Given the description of an element on the screen output the (x, y) to click on. 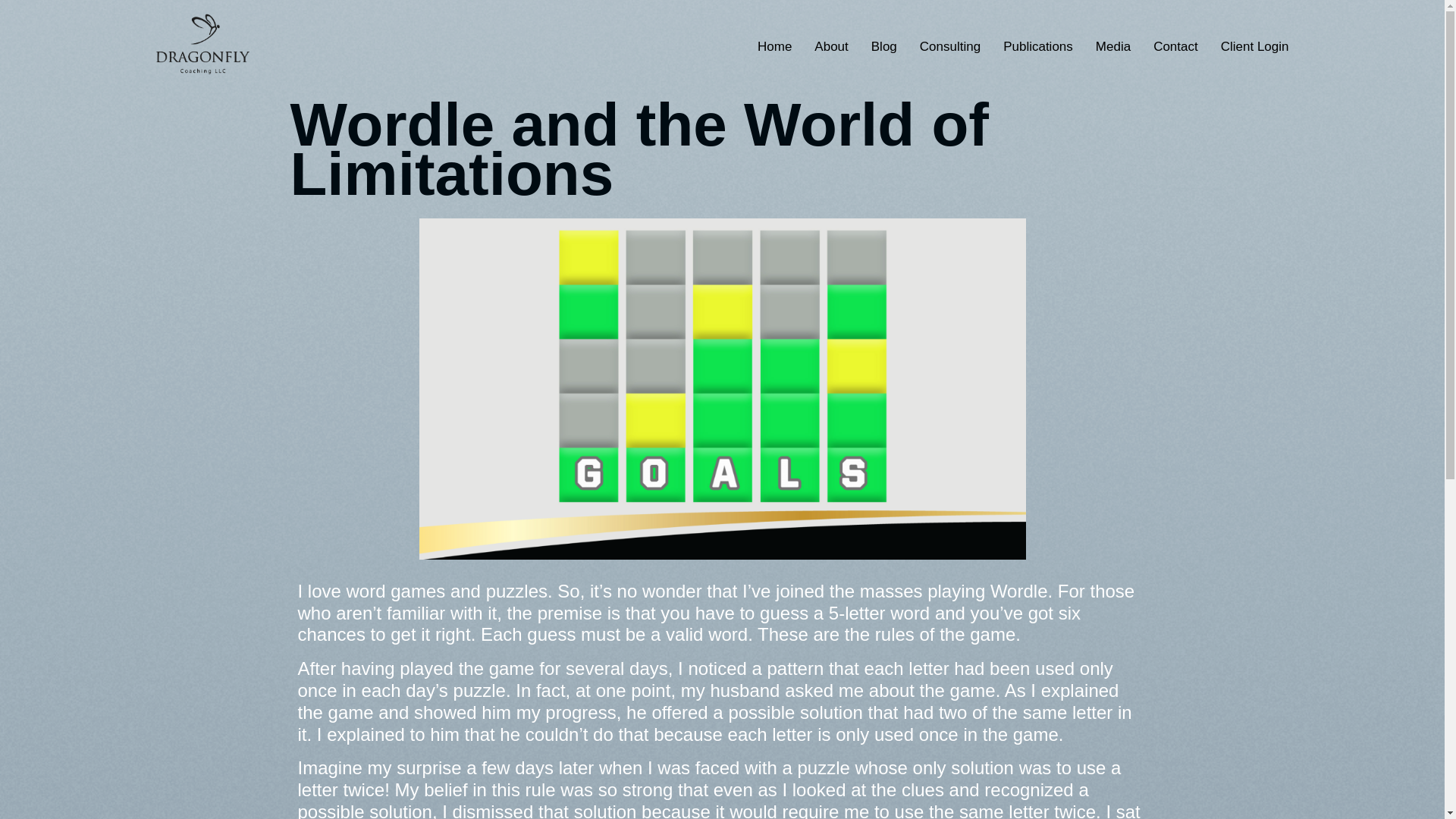
Blog (884, 47)
Media (1112, 47)
Consulting (949, 47)
Contact (1175, 47)
Home (774, 47)
Publications (1037, 47)
Client Login (1254, 47)
About (831, 47)
